Given the description of an element on the screen output the (x, y) to click on. 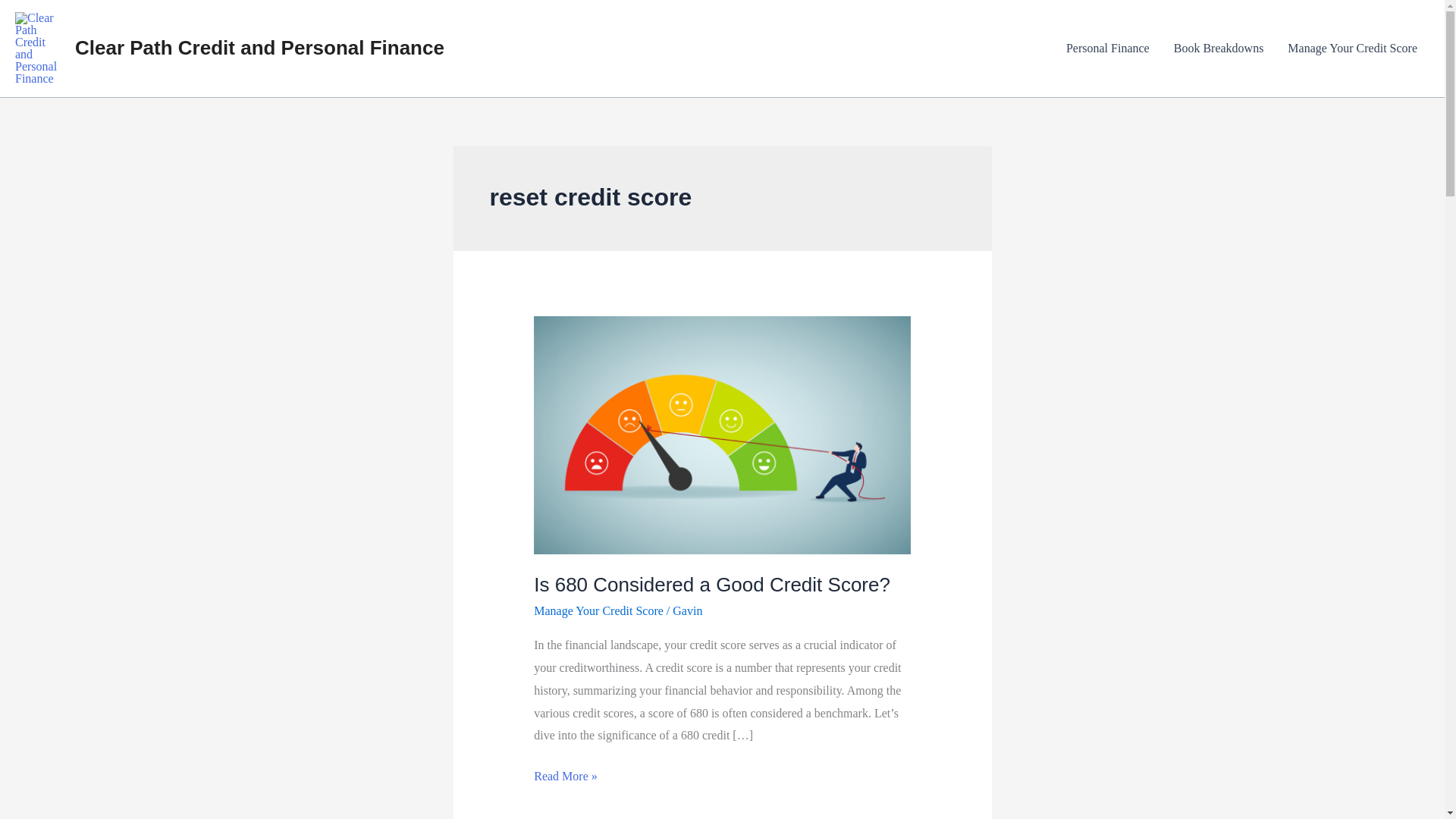
Manage Your Credit Score (1352, 48)
Is 680 Considered a Good Credit Score? (711, 584)
Manage Your Credit Score (598, 610)
View all posts by Gavin (686, 610)
Clear Path Credit and Personal Finance (259, 47)
Book Breakdowns (1218, 48)
Personal Finance (1107, 48)
Gavin (686, 610)
